Given the description of an element on the screen output the (x, y) to click on. 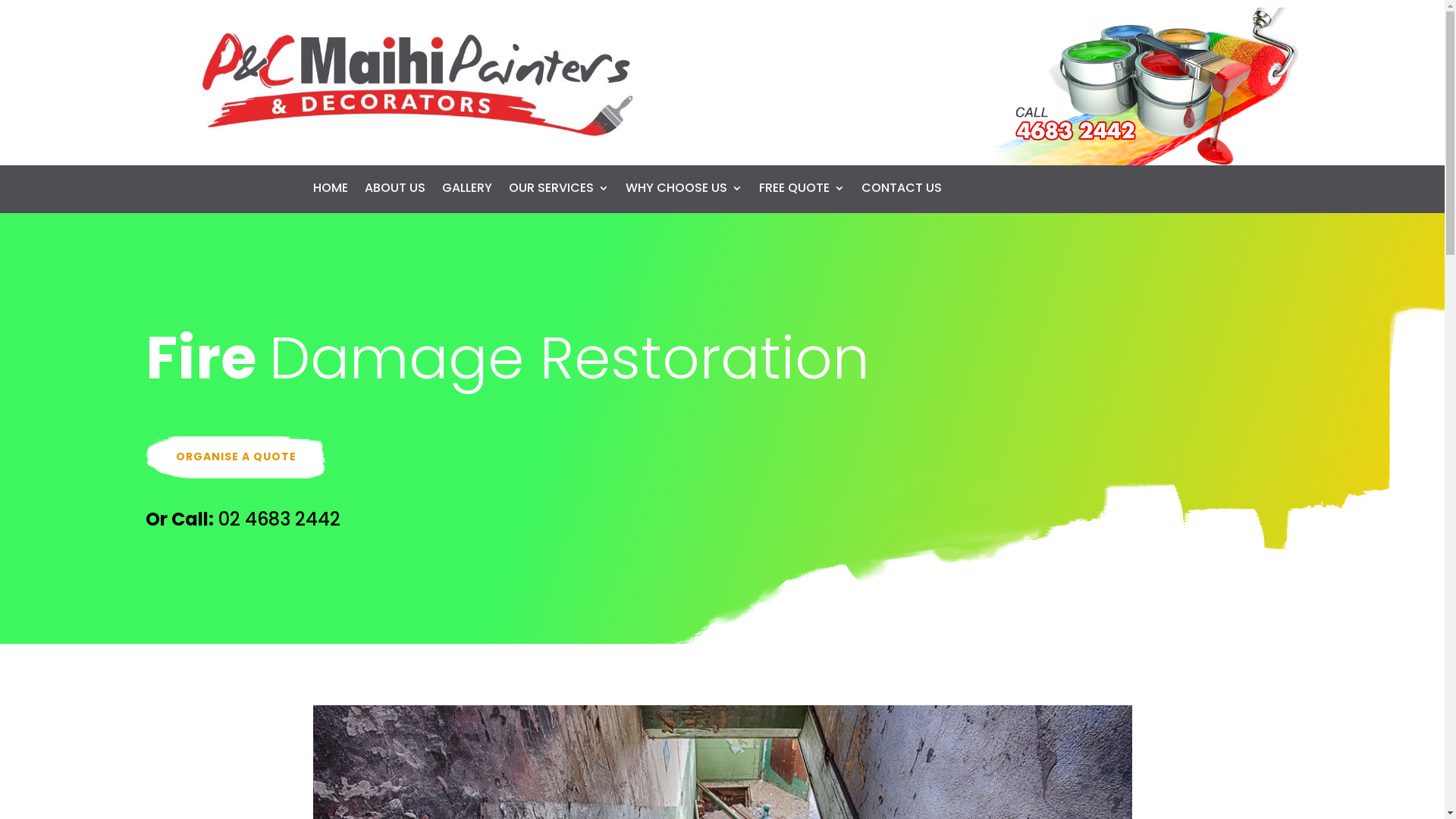
FREE QUOTE Element type: text (801, 190)
CONTACT US Element type: text (901, 190)
WHY CHOOSE US Element type: text (682, 190)
HOME Element type: text (329, 190)
GALLERY Element type: text (466, 190)
ORGANISE A QUOTE Element type: text (235, 457)
Or Call: 02 4683 2442 Element type: text (242, 518)
OUR SERVICES Element type: text (558, 190)
ABOUT US Element type: text (394, 190)
